Given the description of an element on the screen output the (x, y) to click on. 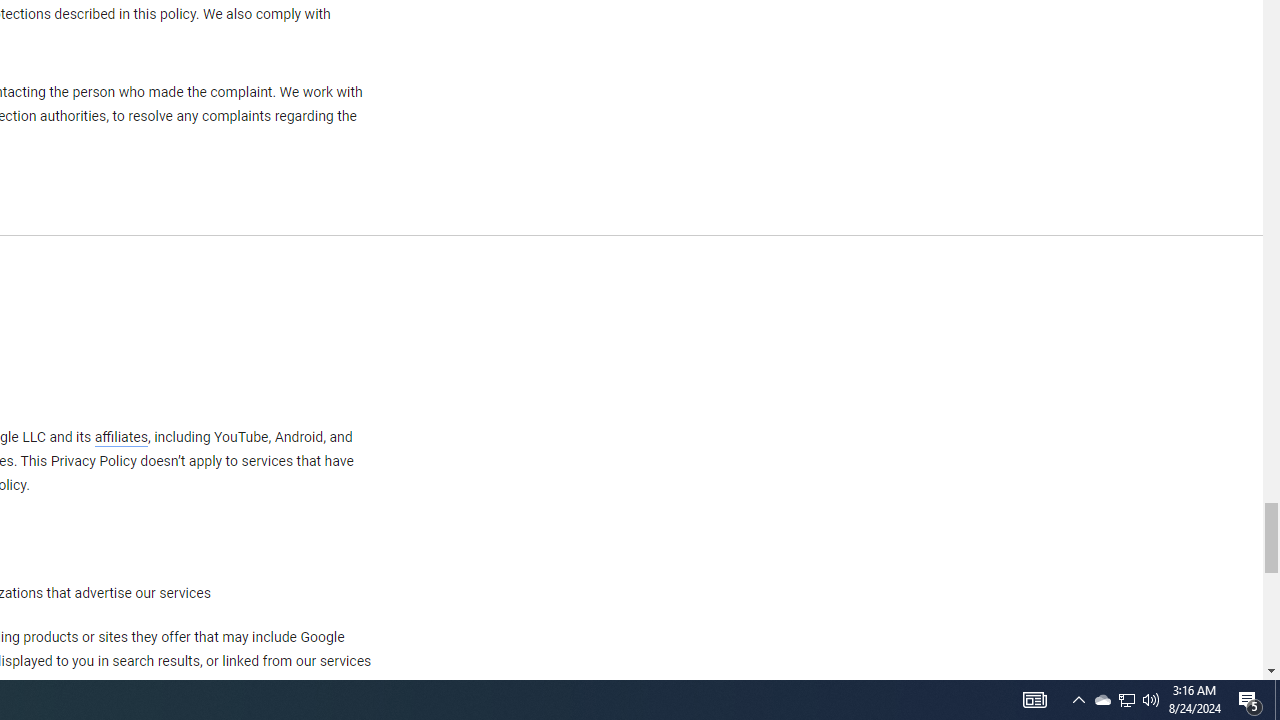
affiliates (120, 437)
